Given the description of an element on the screen output the (x, y) to click on. 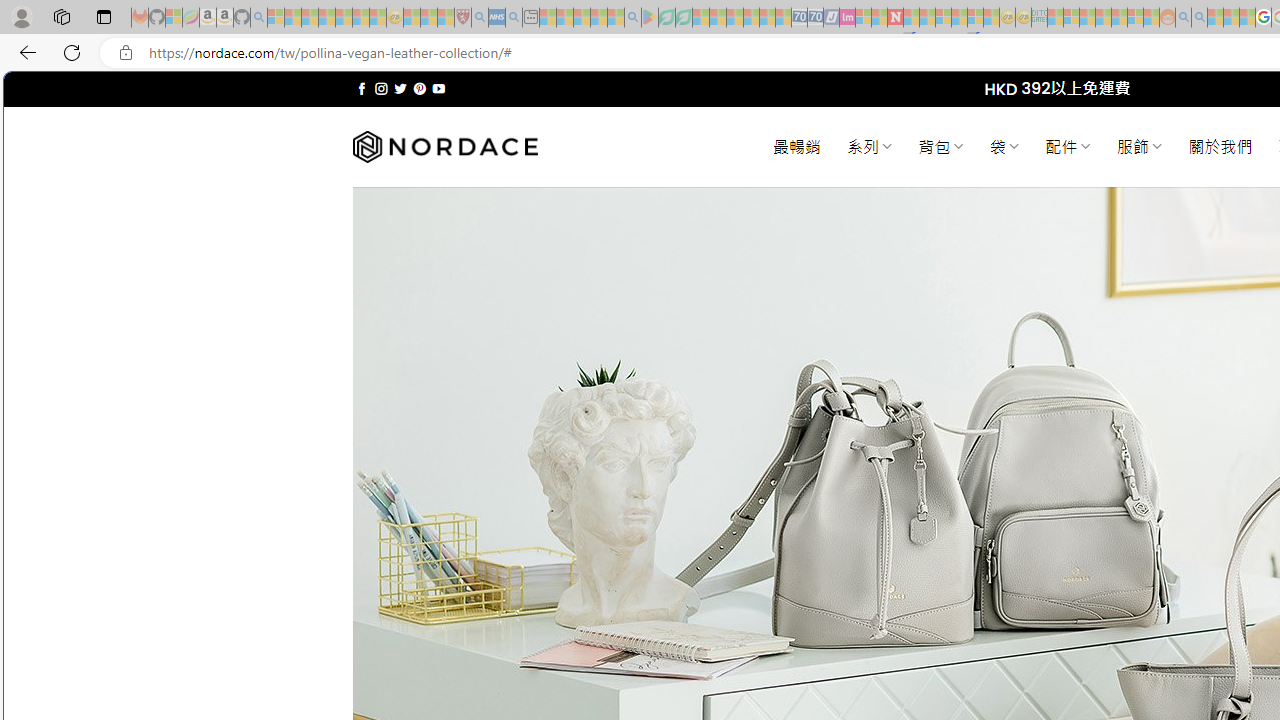
Pets - MSN - Sleeping (598, 17)
